Given the description of an element on the screen output the (x, y) to click on. 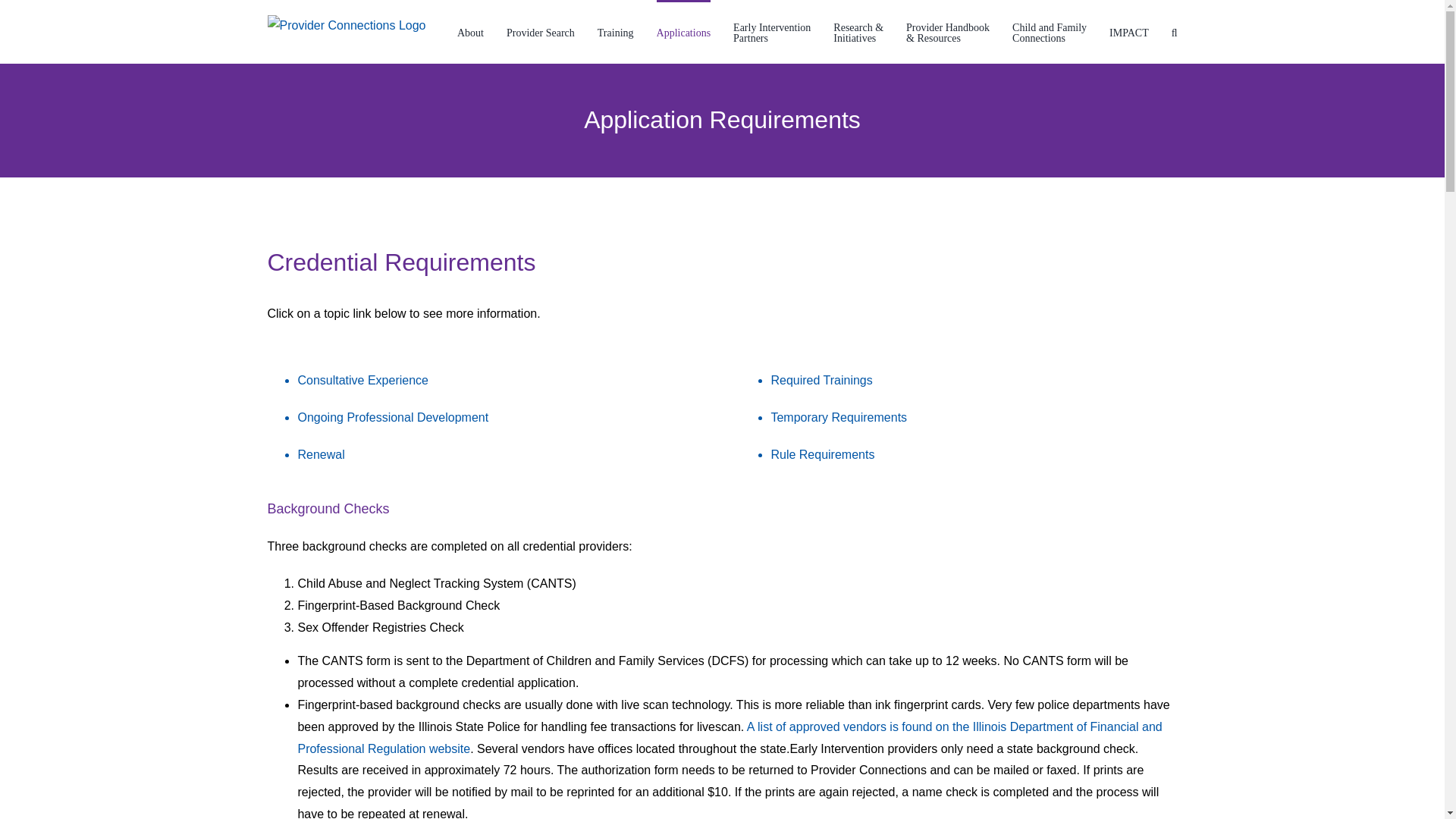
Provider Search (771, 31)
